Given the description of an element on the screen output the (x, y) to click on. 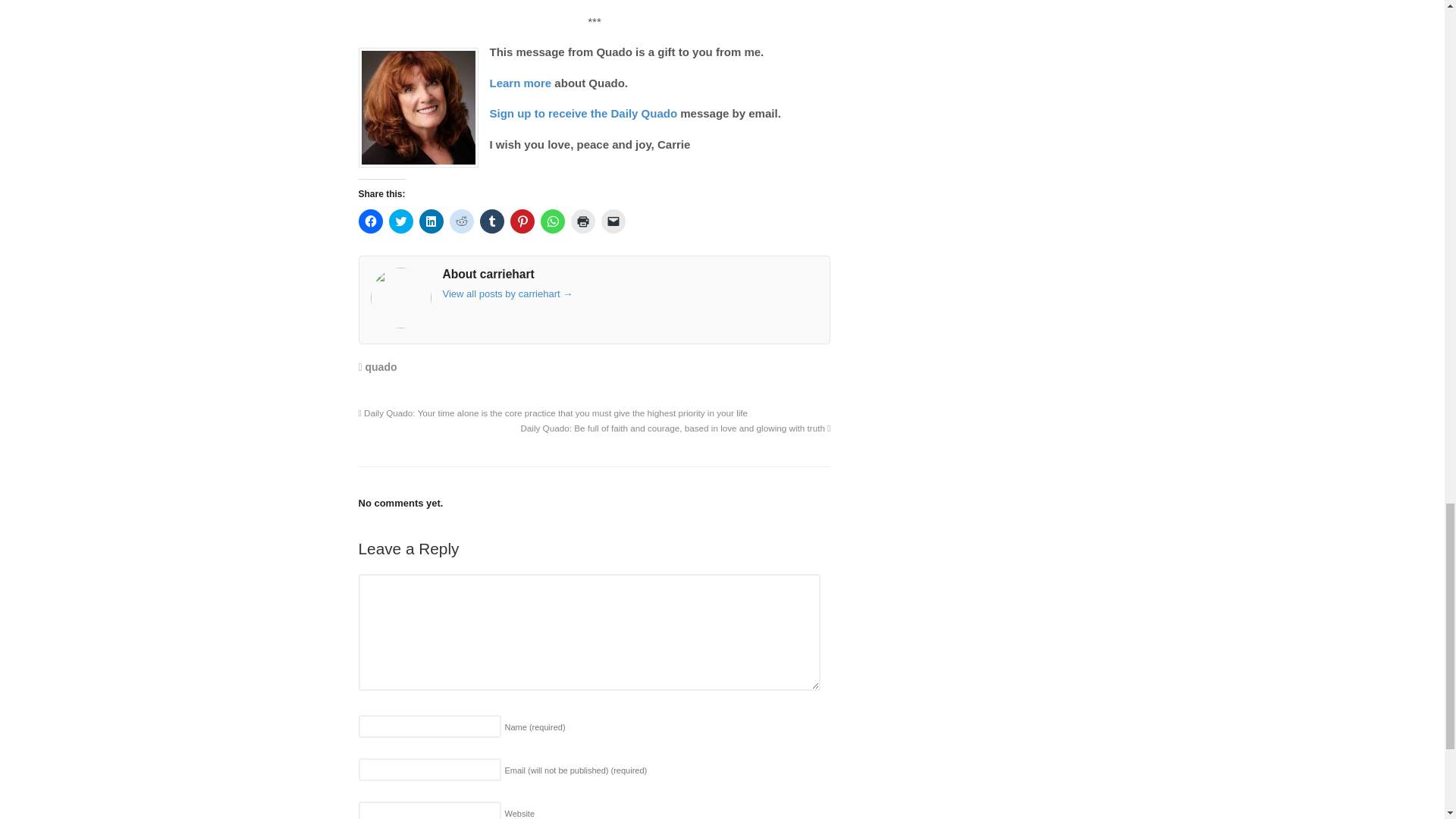
Click to share on WhatsApp (552, 221)
Click to share on Facebook (369, 221)
quado (381, 367)
Click to share on Twitter (400, 221)
Click to share on Reddit (460, 221)
Click to email a link to a friend (611, 221)
Click to share on Tumblr (491, 221)
Learn more (520, 82)
Click to print (582, 221)
